Given the description of an element on the screen output the (x, y) to click on. 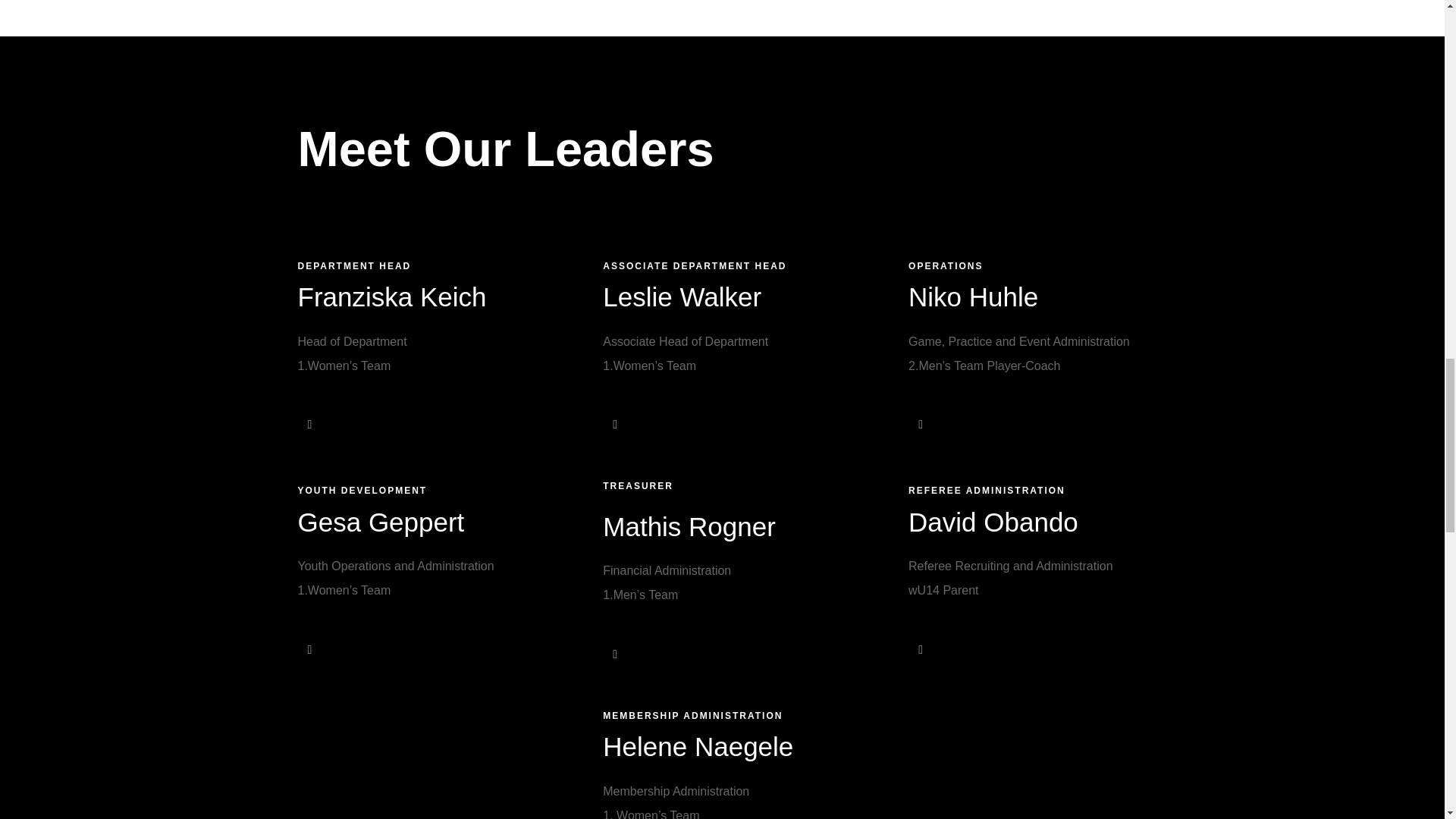
Envelope (920, 424)
Envelope (309, 424)
Envelope (614, 424)
